Given the description of an element on the screen output the (x, y) to click on. 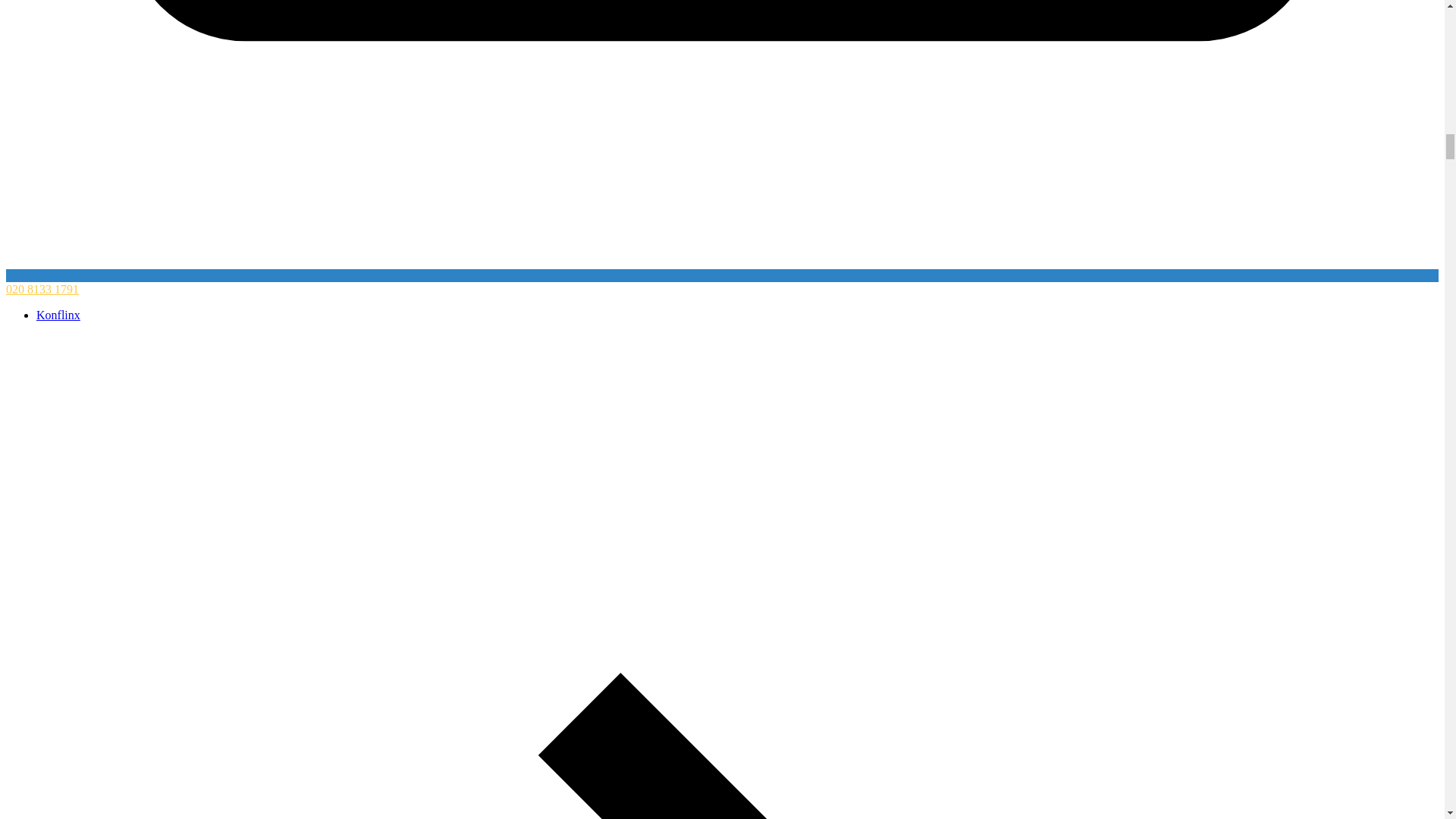
Konflinx (58, 314)
020 8133 1791 (41, 288)
